Given the description of an element on the screen output the (x, y) to click on. 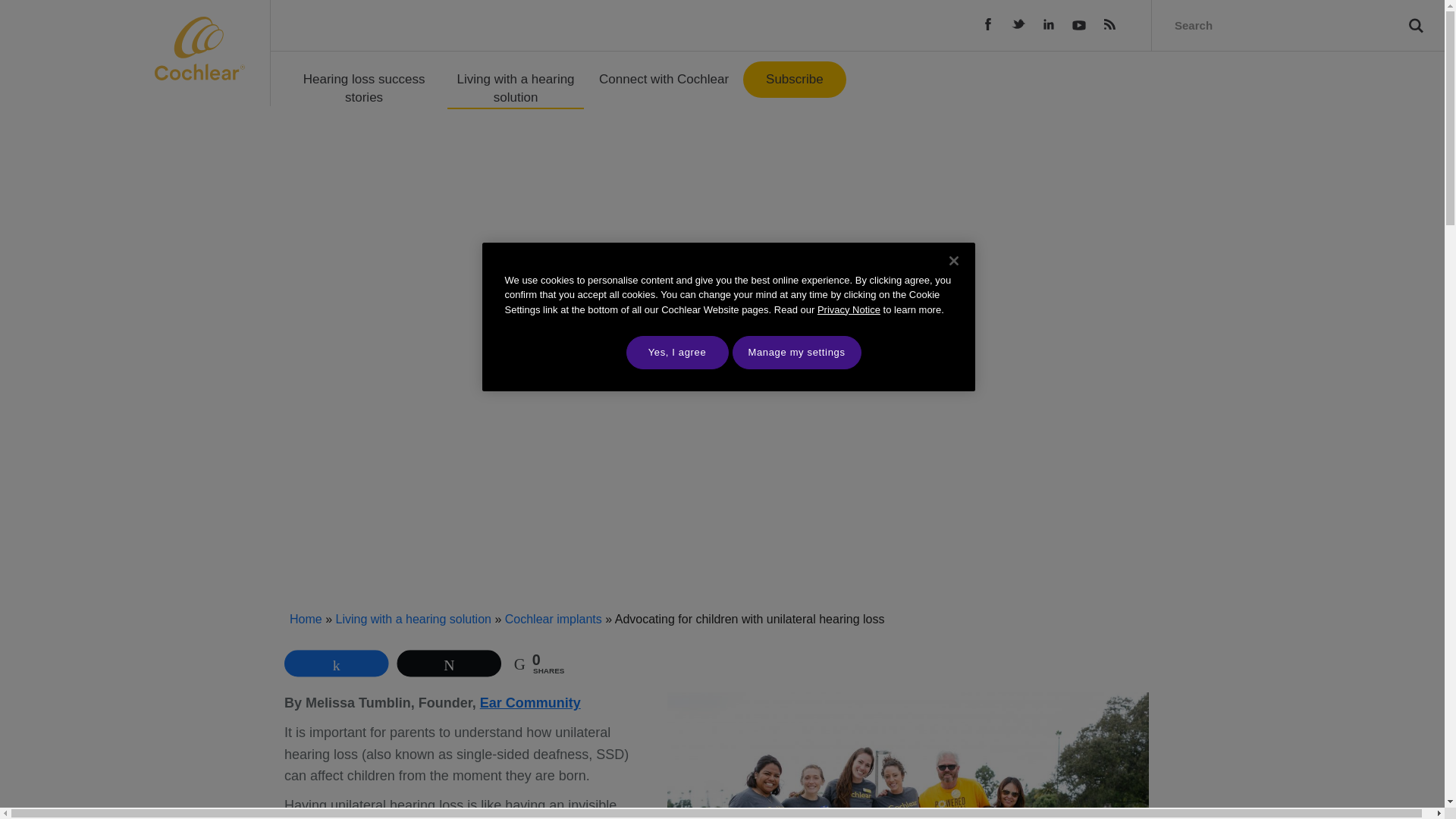
RSS Feed (1109, 23)
Ear Community (530, 702)
Search (1415, 25)
LinkedIn (1047, 23)
Home (305, 618)
Cochlear Hear and Now (205, 48)
Living with a hearing solution (412, 618)
Hearing loss success stories (363, 88)
Twitter (1018, 23)
Search for: (1267, 25)
Facebook (987, 23)
Living with a hearing solution (514, 89)
Connect with Cochlear (663, 79)
Subscribe (793, 79)
Cochlear implants (553, 618)
